Given the description of an element on the screen output the (x, y) to click on. 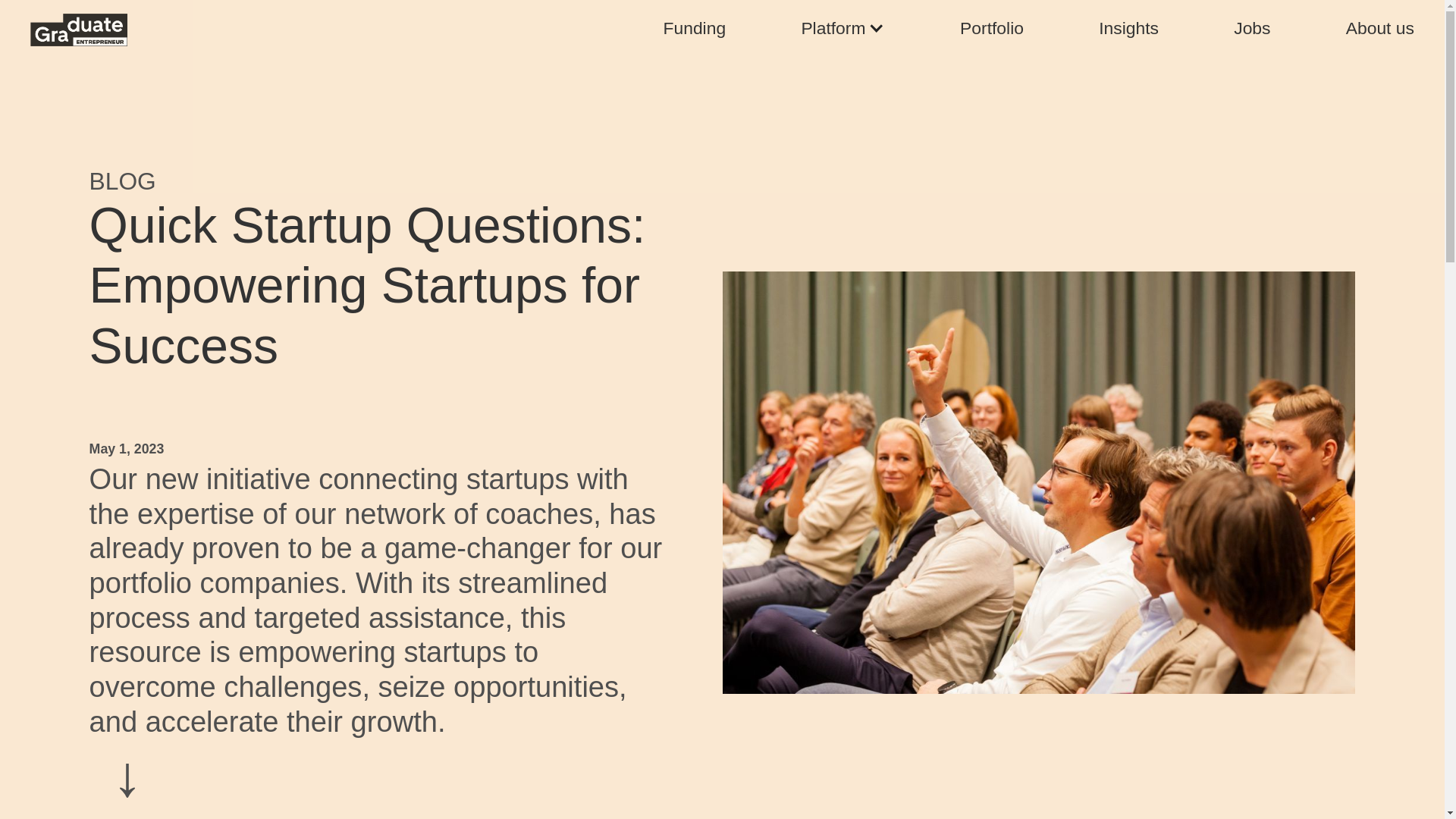
Insights (1128, 30)
About us (1379, 30)
Funding (694, 30)
Portfolio (991, 30)
Jobs (1251, 30)
